Given the description of an element on the screen output the (x, y) to click on. 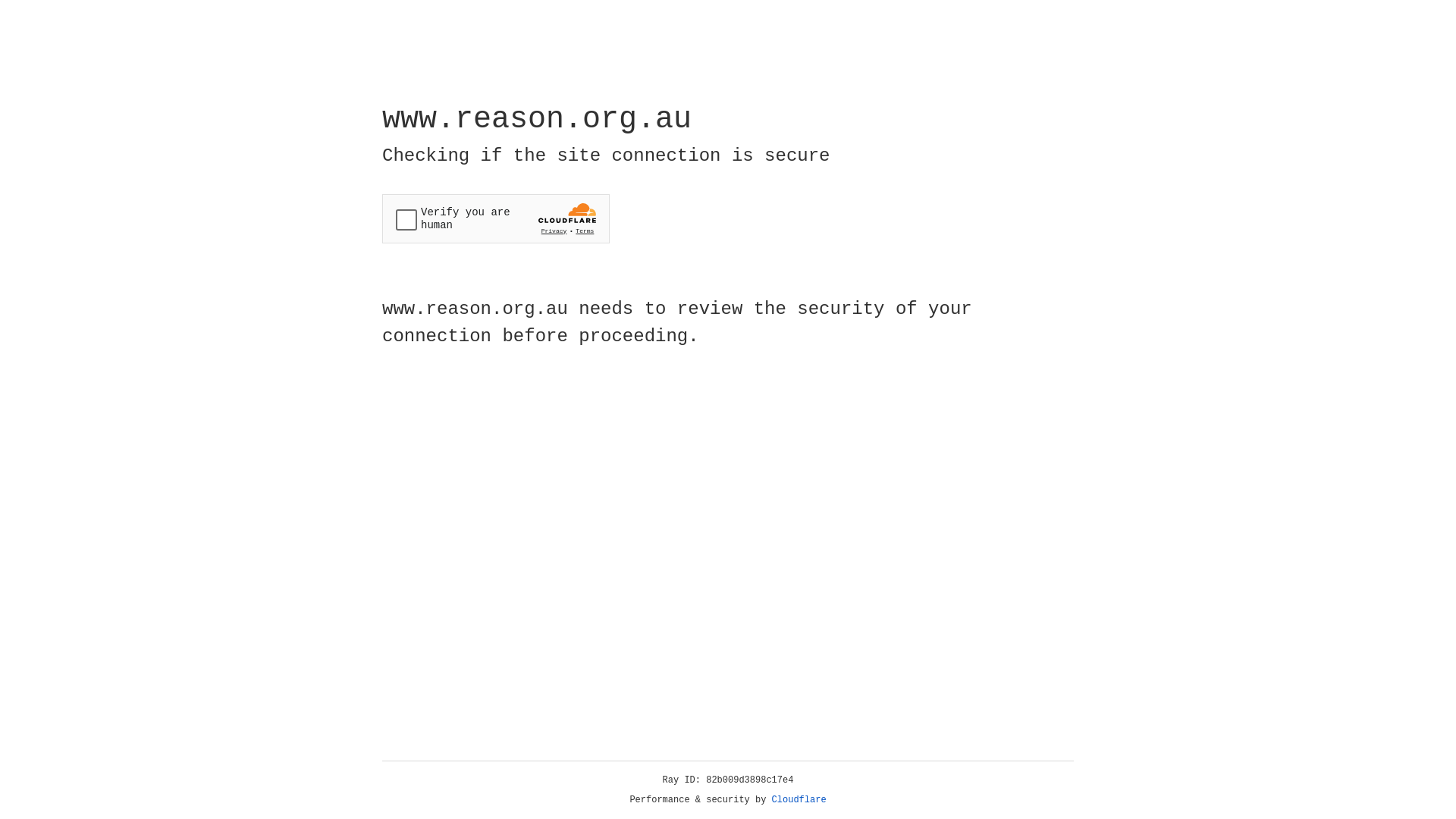
Widget containing a Cloudflare security challenge Element type: hover (495, 218)
Cloudflare Element type: text (798, 799)
